Given the description of an element on the screen output the (x, y) to click on. 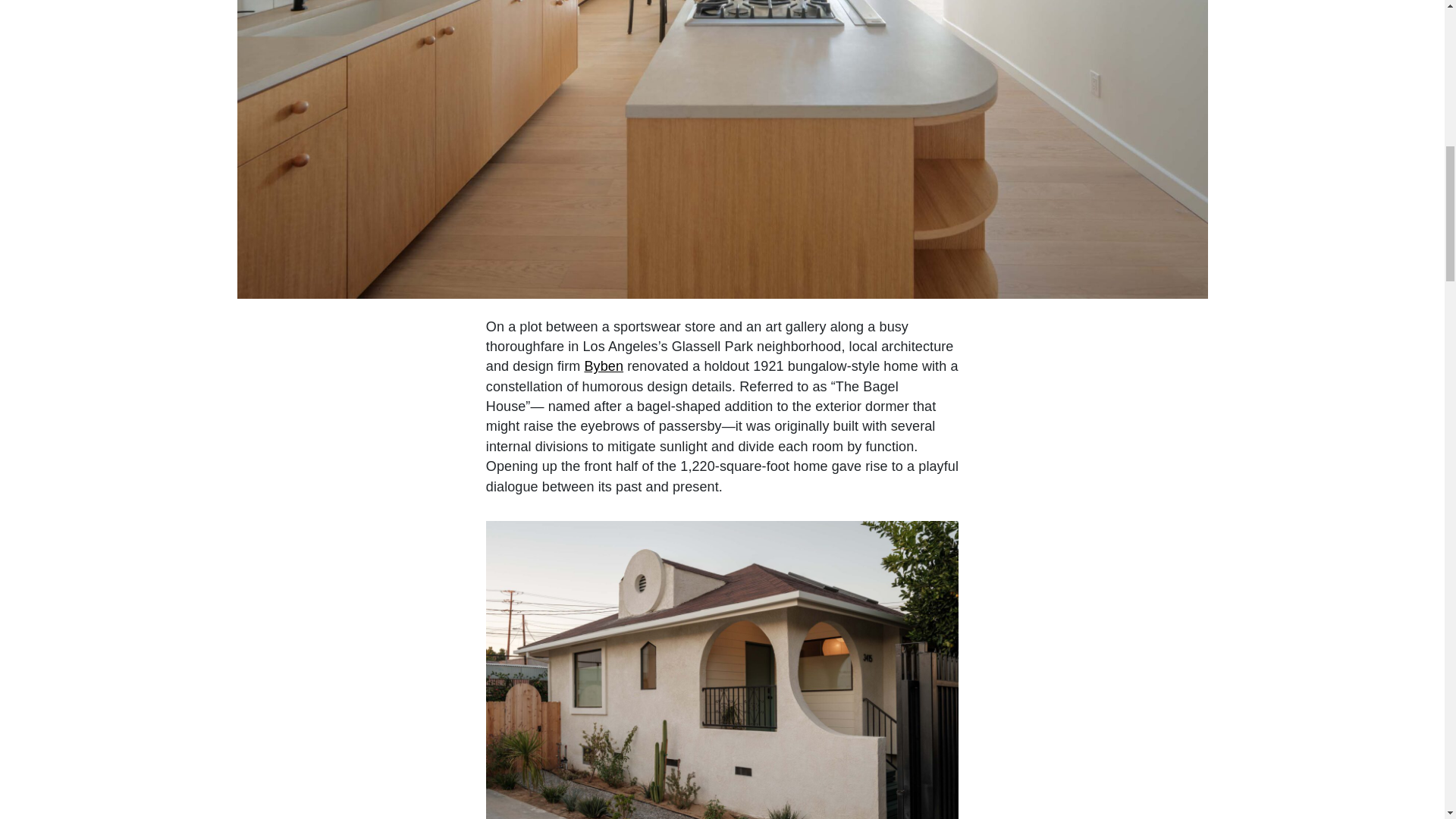
Byben (603, 365)
